Given the description of an element on the screen output the (x, y) to click on. 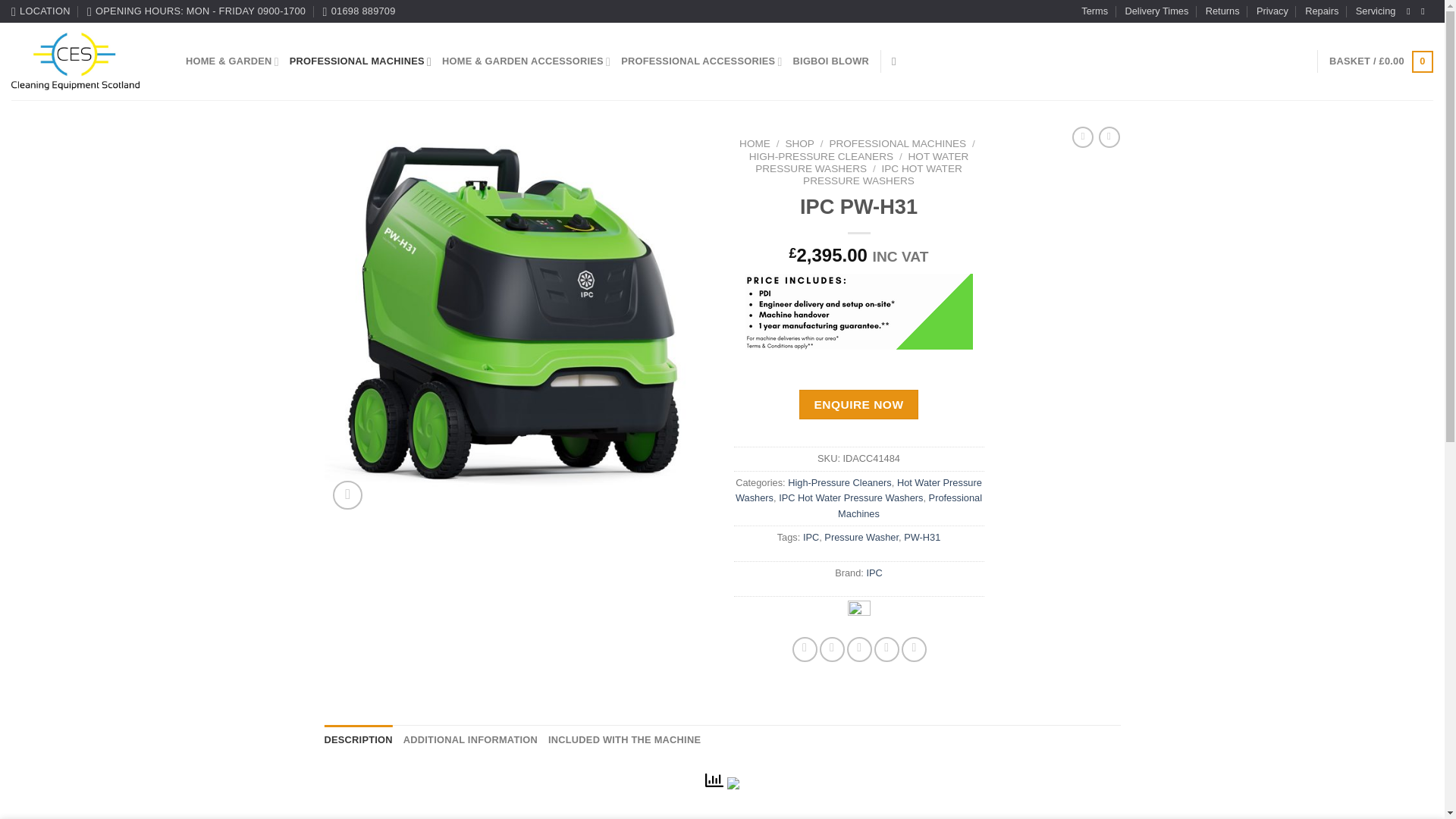
Opening Hours: Mon - Friday 0900-1700  (196, 11)
Repairs (1321, 11)
Karcher Power Cleaning  Equipment Repairs (1321, 11)
Returns (1222, 11)
Servicing (1375, 11)
Terms (1094, 11)
OPENING HOURS: MON - FRIDAY 0900-1700 (196, 11)
Basket (1380, 61)
01698 889709 (359, 11)
LOCATION (40, 11)
35 Caledonian Road, Larkhall, South Lanarkshire, ML9 1EP (40, 11)
PROFESSIONAL MACHINES (359, 61)
Karcher Center LPC Service Department (1375, 11)
Privacy (1272, 11)
01698 889709 (359, 11)
